Given the description of an element on the screen output the (x, y) to click on. 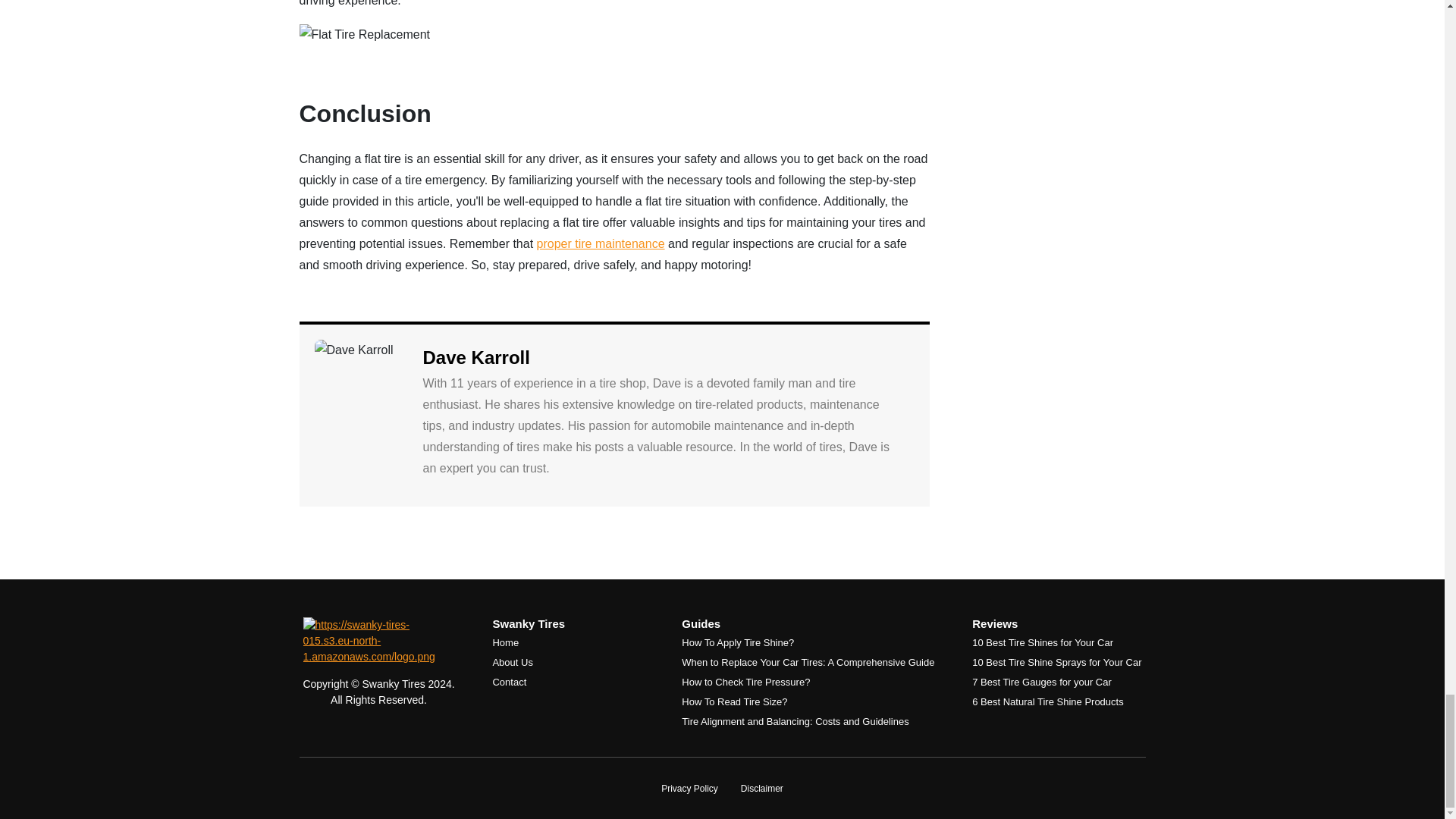
proper tire maintenance (601, 243)
Home (505, 642)
How To Apply Tire Shine? (737, 642)
Contact (508, 681)
How to Check Tire Pressure? (745, 681)
10 Best Tire Shines for Your Car (1042, 642)
Tire Alignment and Balancing: Costs and Guidelines (794, 721)
How To Read Tire Size? (734, 701)
When to Replace Your Car Tires: A Comprehensive Guide (807, 662)
About Us (512, 662)
